Given the description of an element on the screen output the (x, y) to click on. 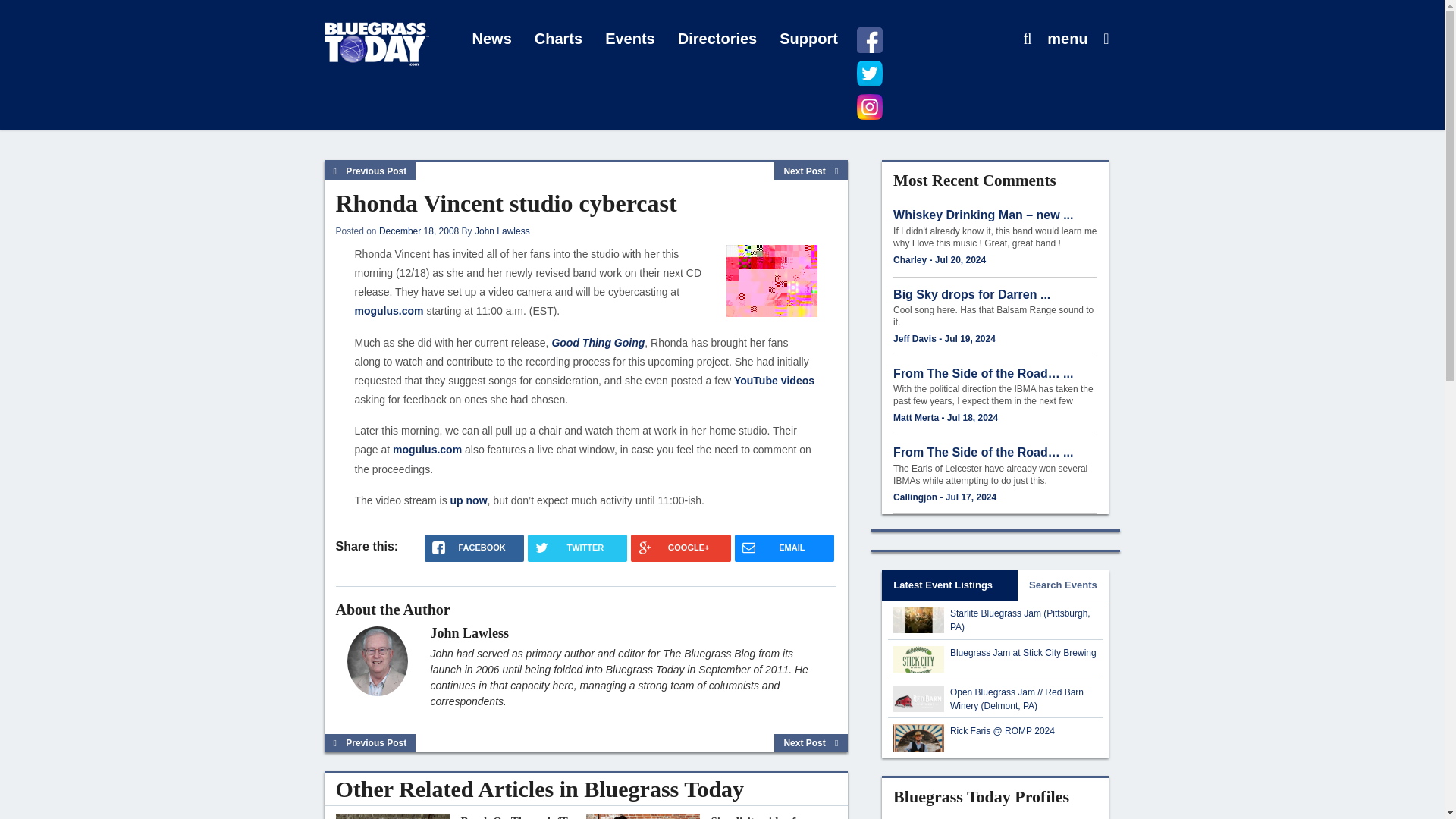
Events (630, 39)
Good Thing Going (598, 342)
John Lawless (501, 231)
Next Post (810, 171)
Check out Good Thing Going online (598, 342)
Watch Rhonda's YouTube videos of new songs (773, 380)
December 18, 2008 (418, 231)
up now (468, 500)
Support (808, 39)
TWITTER (577, 547)
YouTube videos (773, 380)
mogulus.com (427, 449)
Watch the Rhonda Vincent video stream online (427, 449)
Watch the Rhonda Vincent video stream online (389, 310)
FACEBOOK (474, 547)
